Given the description of an element on the screen output the (x, y) to click on. 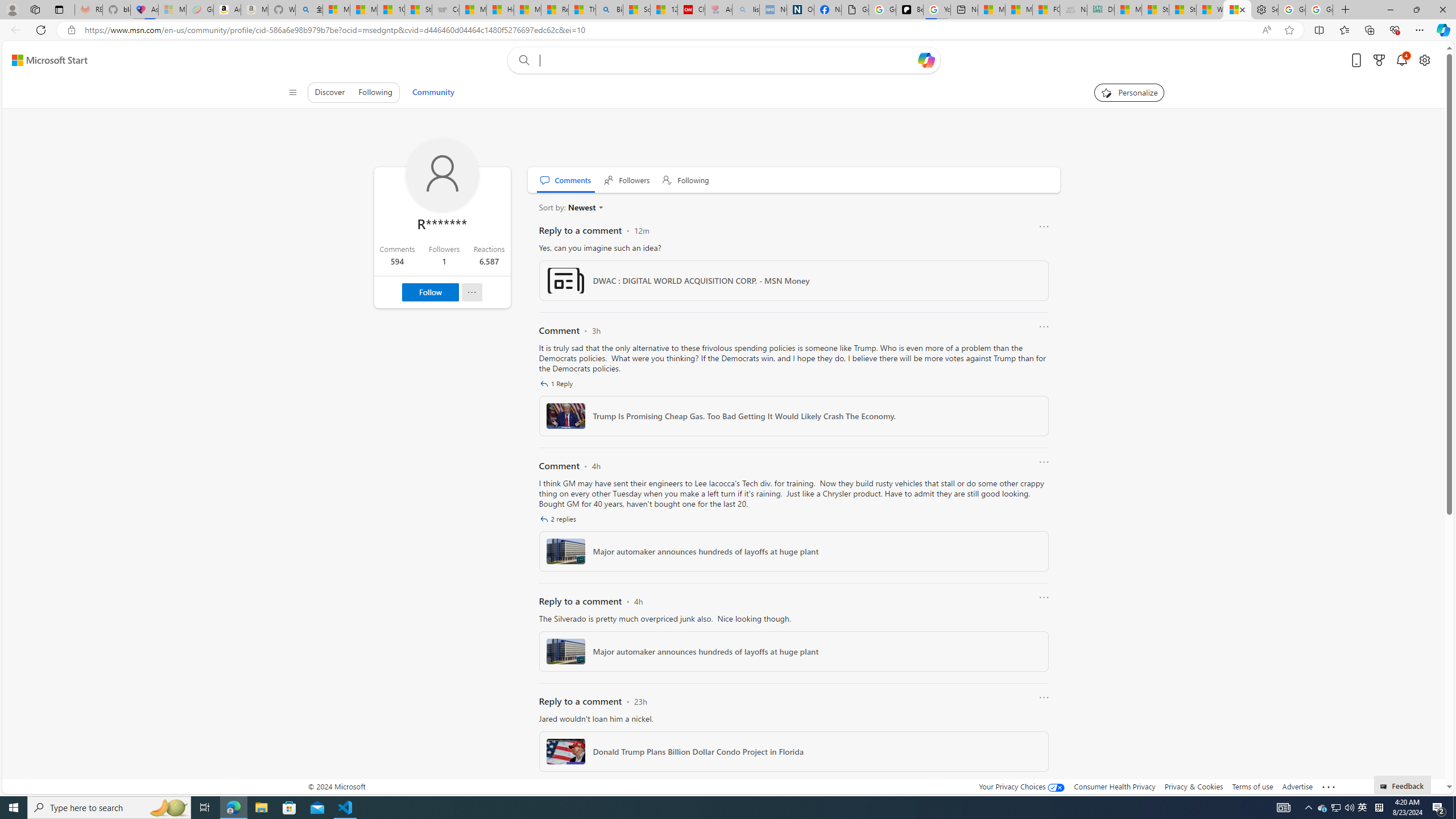
Community (432, 92)
Google Analytics Opt-out Browser Add-on Download Page (855, 9)
Community (432, 92)
